Given the description of an element on the screen output the (x, y) to click on. 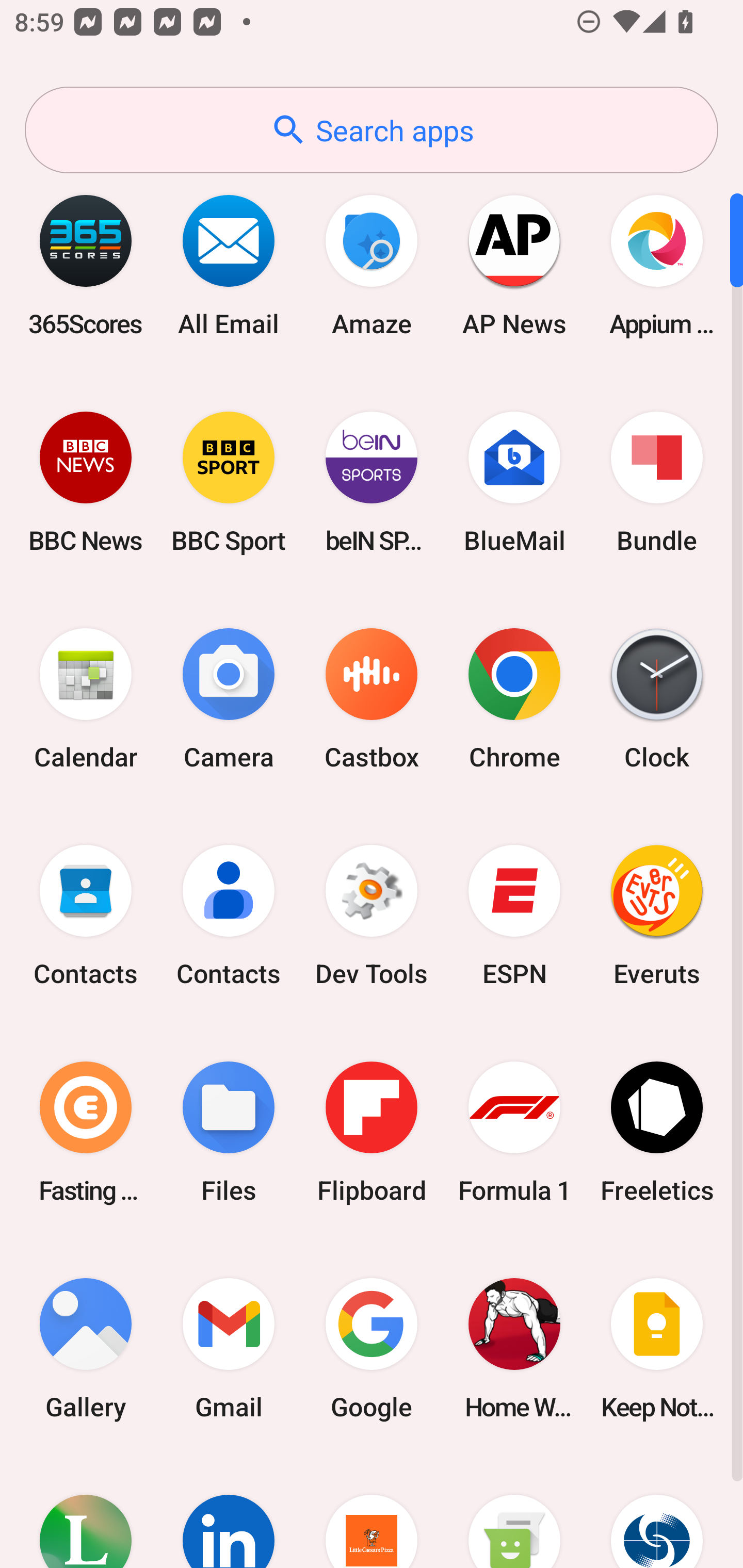
  Search apps (371, 130)
365Scores (85, 264)
All Email (228, 264)
Amaze (371, 264)
AP News (514, 264)
Appium Settings (656, 264)
BBC News (85, 482)
BBC Sport (228, 482)
beIN SPORTS (371, 482)
BlueMail (514, 482)
Bundle (656, 482)
Calendar (85, 699)
Camera (228, 699)
Castbox (371, 699)
Chrome (514, 699)
Clock (656, 699)
Contacts (85, 915)
Contacts (228, 915)
Dev Tools (371, 915)
ESPN (514, 915)
Everuts (656, 915)
Fasting Coach (85, 1131)
Files (228, 1131)
Flipboard (371, 1131)
Formula 1 (514, 1131)
Freeletics (656, 1131)
Gallery (85, 1348)
Gmail (228, 1348)
Google (371, 1348)
Home Workout (514, 1348)
Keep Notes (656, 1348)
